Given the description of an element on the screen output the (x, y) to click on. 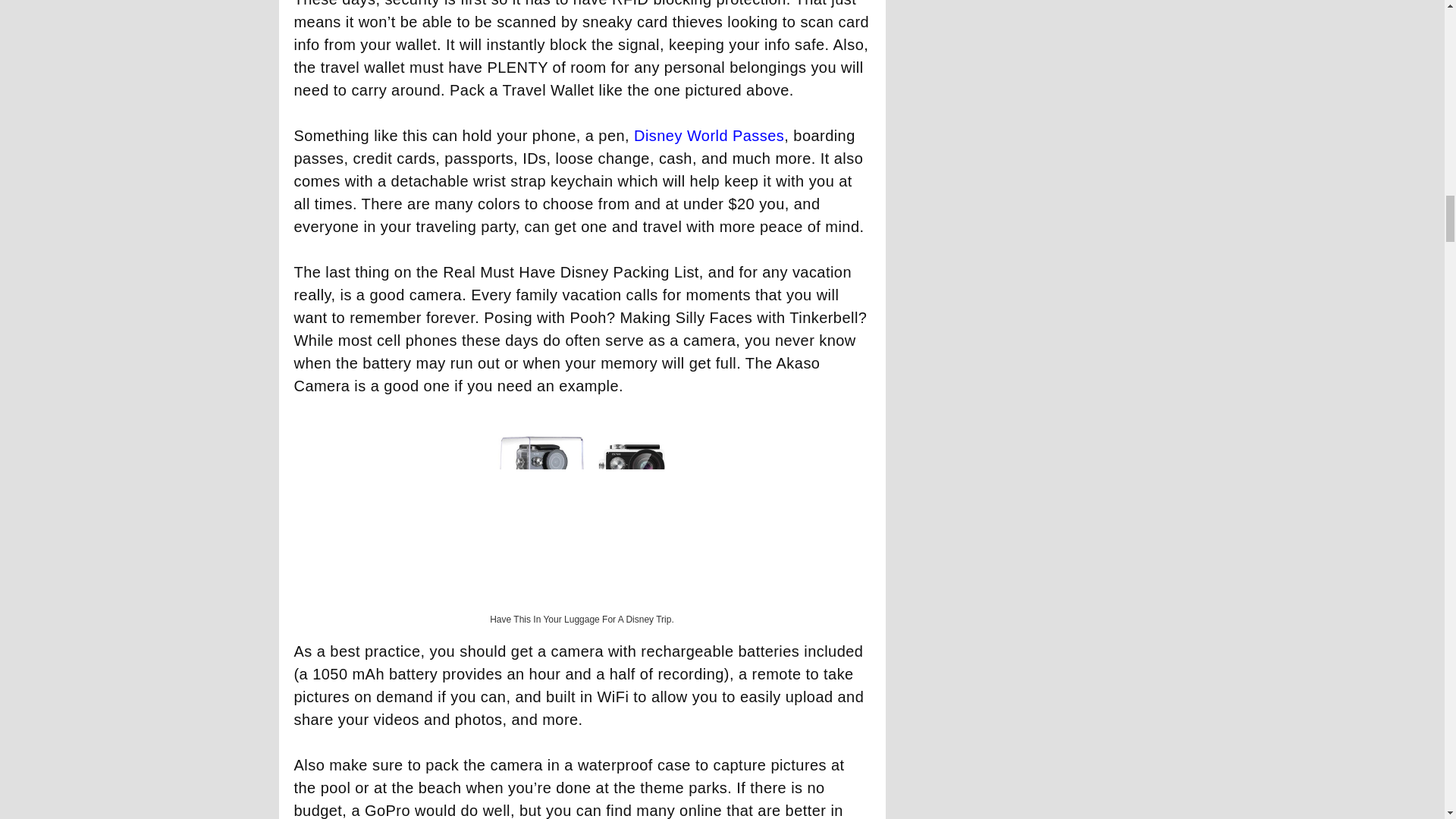
Disney World Passes (708, 135)
